Given the description of an element on the screen output the (x, y) to click on. 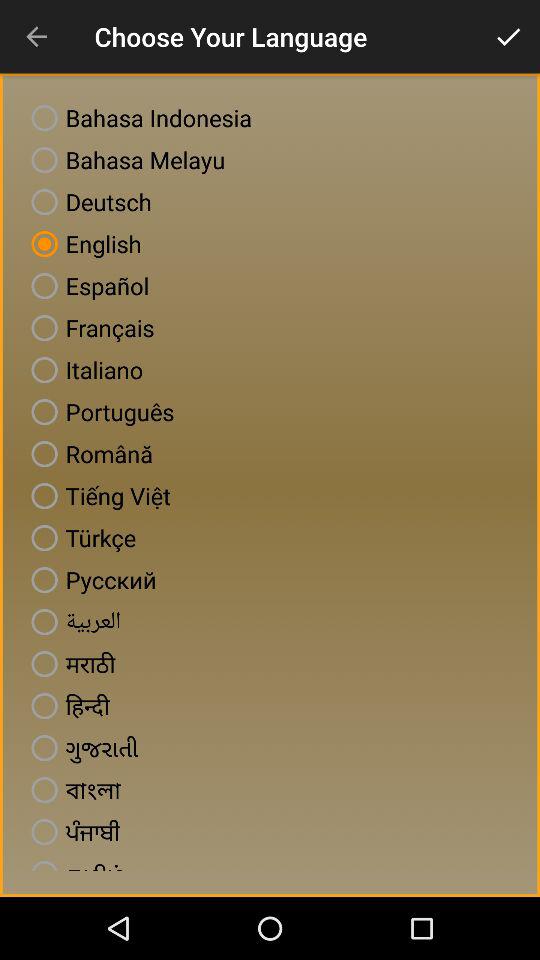
tap english radio button (82, 244)
